Given the description of an element on the screen output the (x, y) to click on. 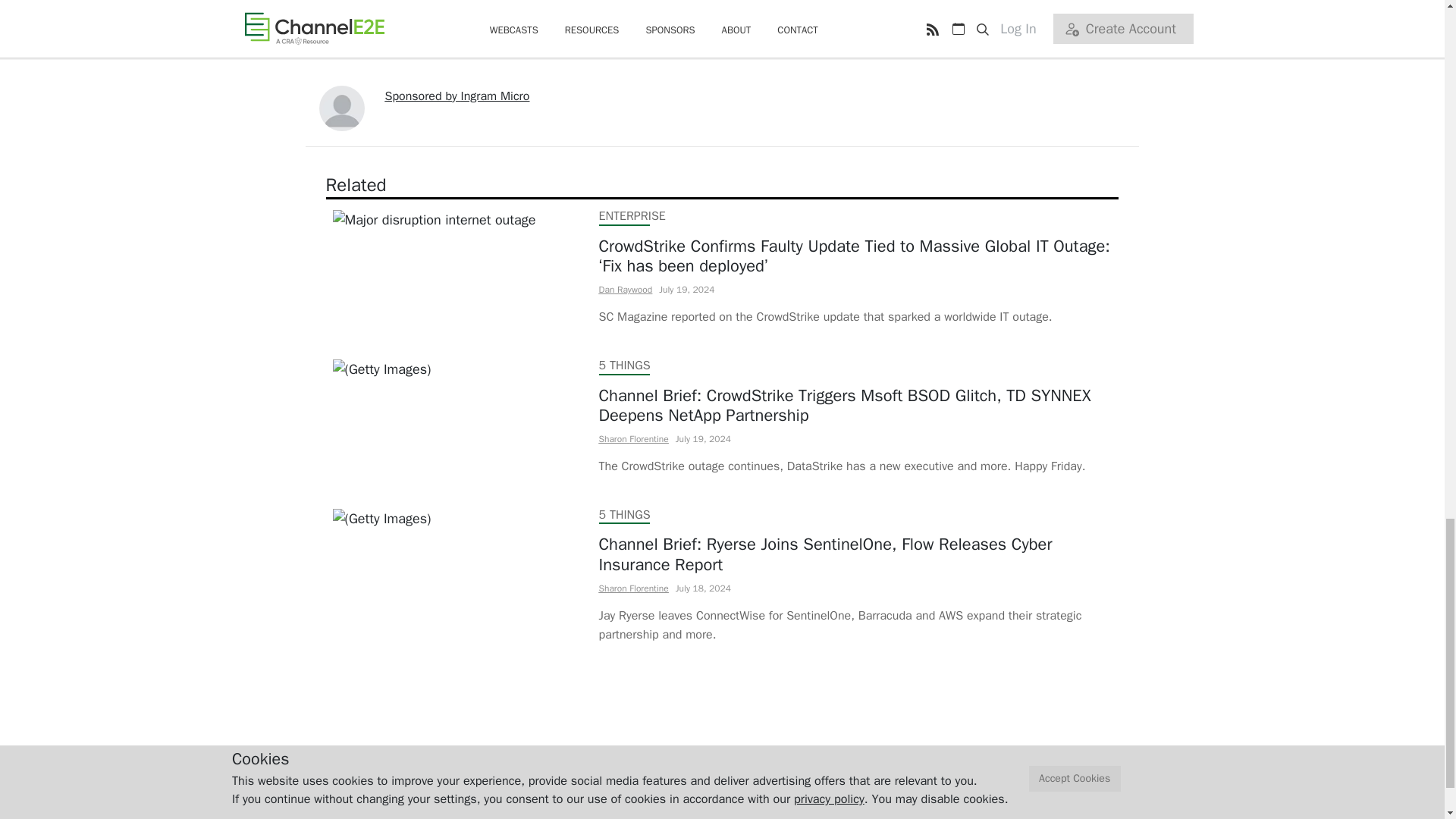
here (703, 44)
5 THINGS (624, 365)
Dan Raywood (625, 289)
Sponsored by Ingram Micro (457, 96)
5 THINGS (624, 514)
Sharon Florentine (633, 439)
Sharon Florentine (633, 588)
ENTERPRISE (631, 215)
www.ingrammicro.com (796, 4)
